Given the description of an element on the screen output the (x, y) to click on. 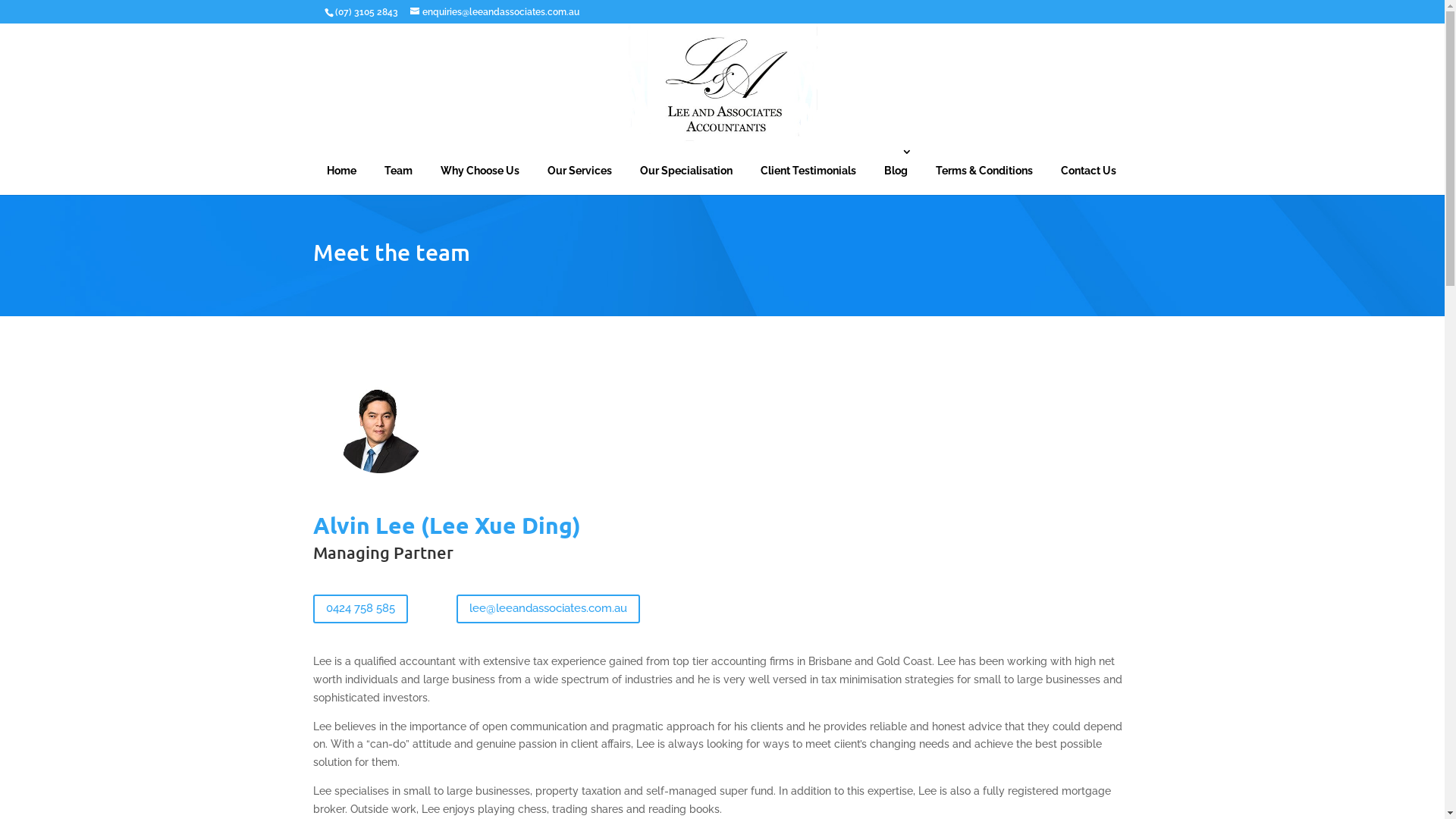
Blog Element type: text (895, 170)
Our Services Element type: text (579, 170)
0424 758 585 Element type: text (359, 609)
Client Testimonials Element type: text (808, 170)
Team Element type: text (398, 170)
Home Element type: text (341, 170)
Our Specialisation Element type: text (686, 170)
lee Element type: hover (383, 433)
Contact Us Element type: text (1088, 170)
enquiries@leeandassociates.com.au Element type: text (493, 11)
Why Choose Us Element type: text (480, 170)
lee@leeandassociates.com.au Element type: text (548, 609)
Terms & Conditions Element type: text (984, 170)
